Given the description of an element on the screen output the (x, y) to click on. 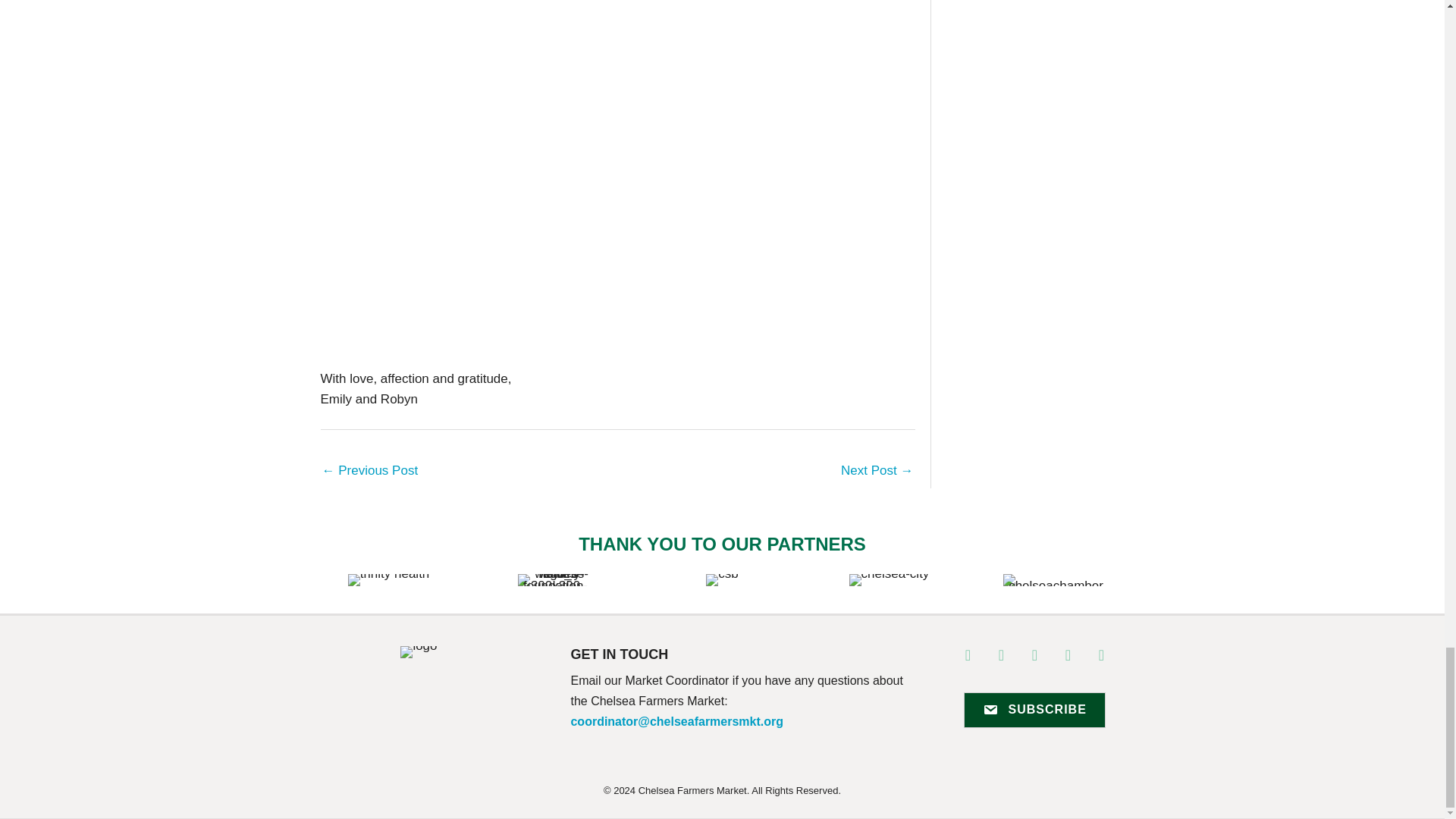
August 10: Wednesday Market Lineup (369, 472)
trinity health (388, 580)
August 17: Wednesday Market Lineup (876, 472)
